Given the description of an element on the screen output the (x, y) to click on. 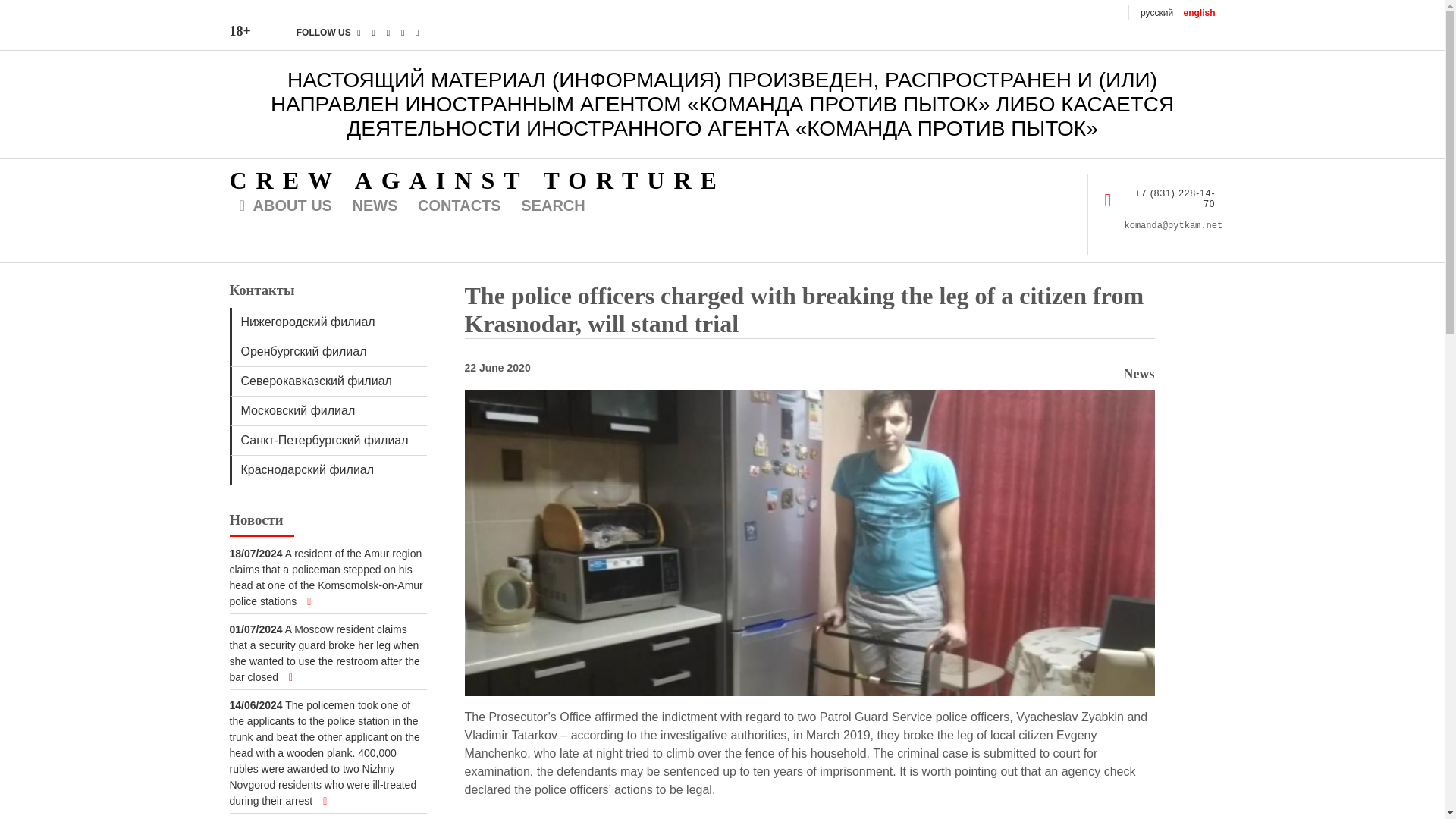
NEWS (377, 205)
CONTACTS (460, 205)
CREW AGAINST TORTURE (476, 180)
english (1198, 12)
ABOUT US (282, 205)
SEARCH (554, 205)
